Given the description of an element on the screen output the (x, y) to click on. 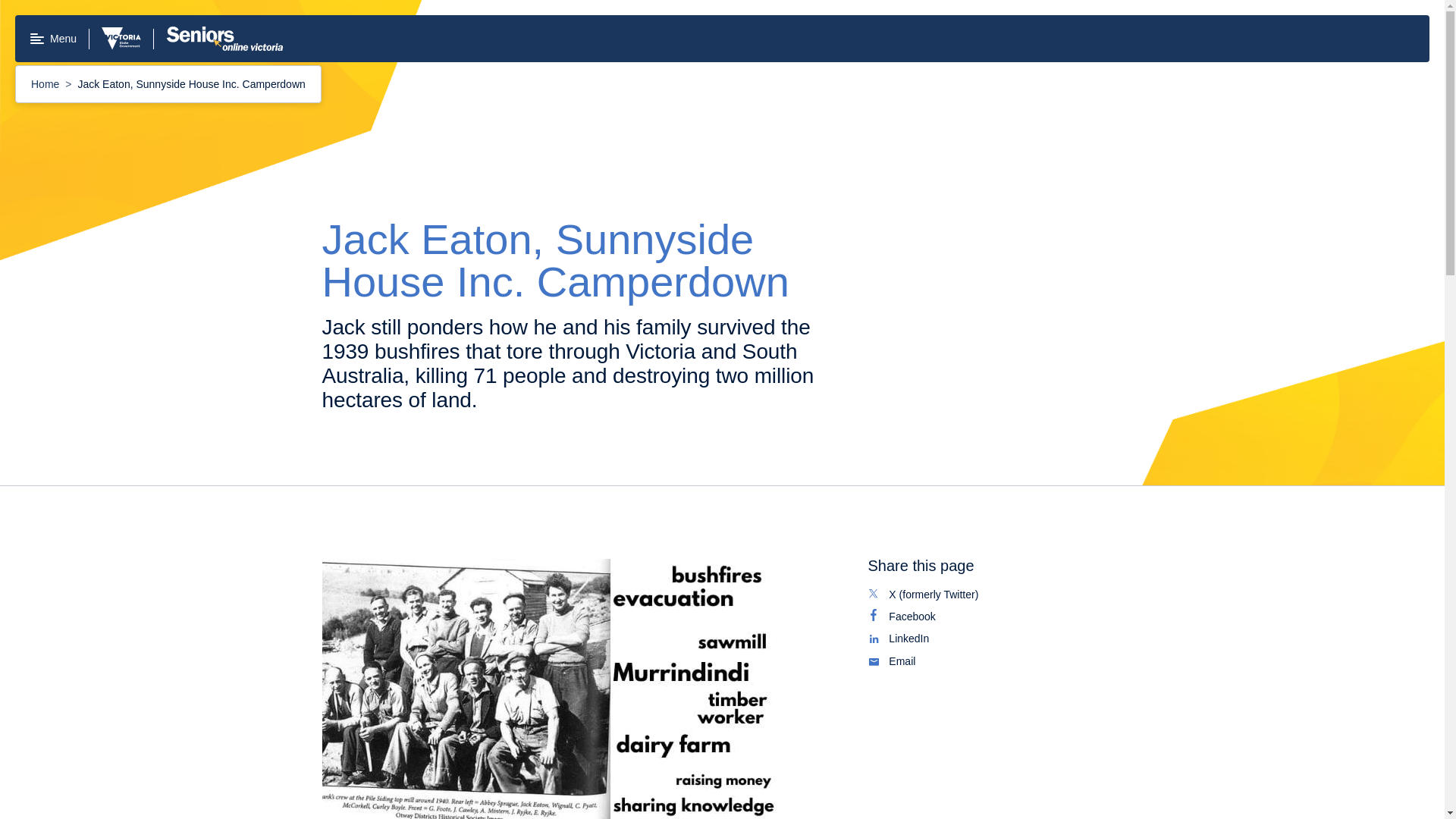
Home (994, 616)
Jack Eaton feature (46, 83)
Menu (994, 660)
